Given the description of an element on the screen output the (x, y) to click on. 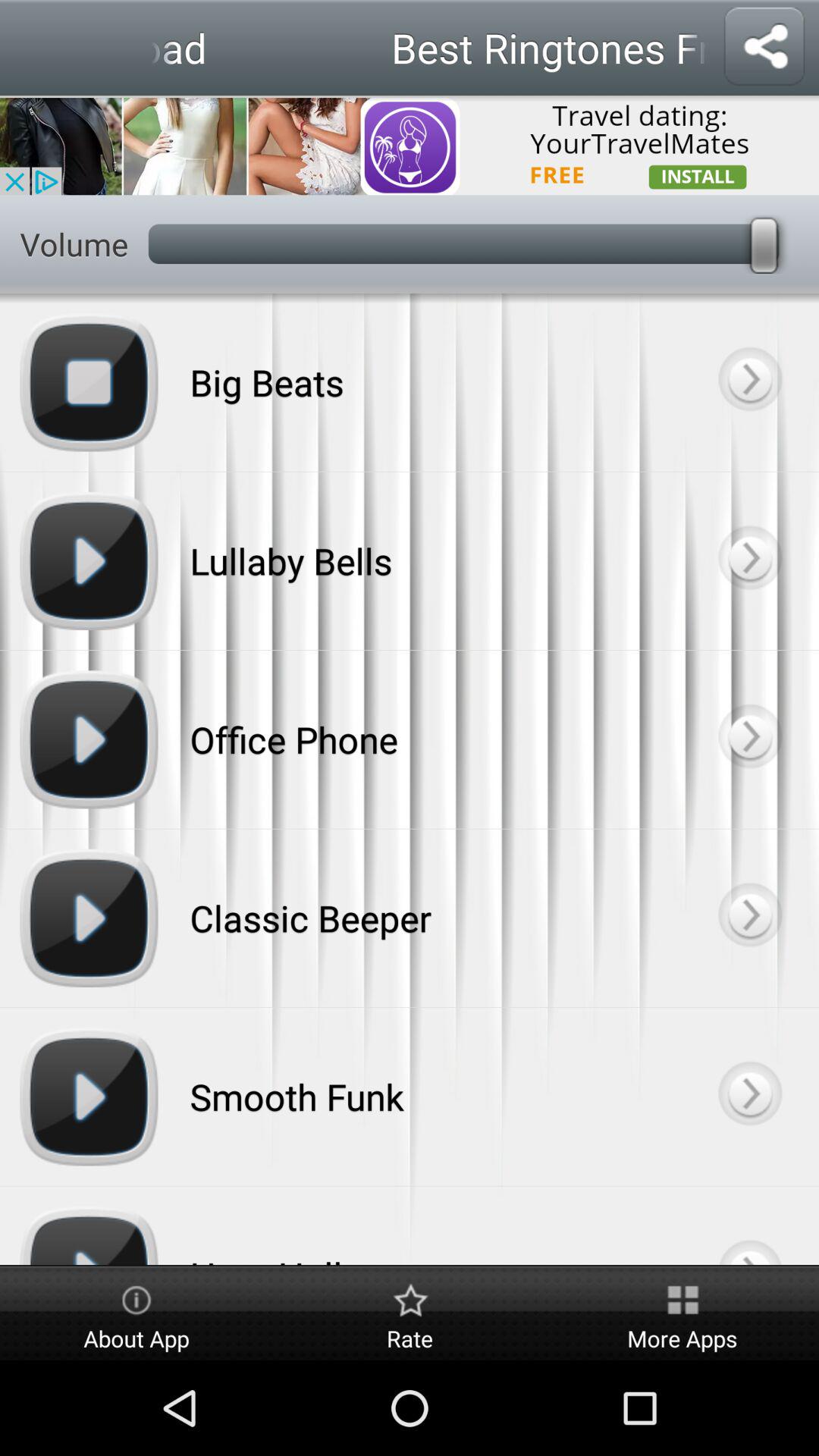
background (749, 918)
